Given the description of an element on the screen output the (x, y) to click on. 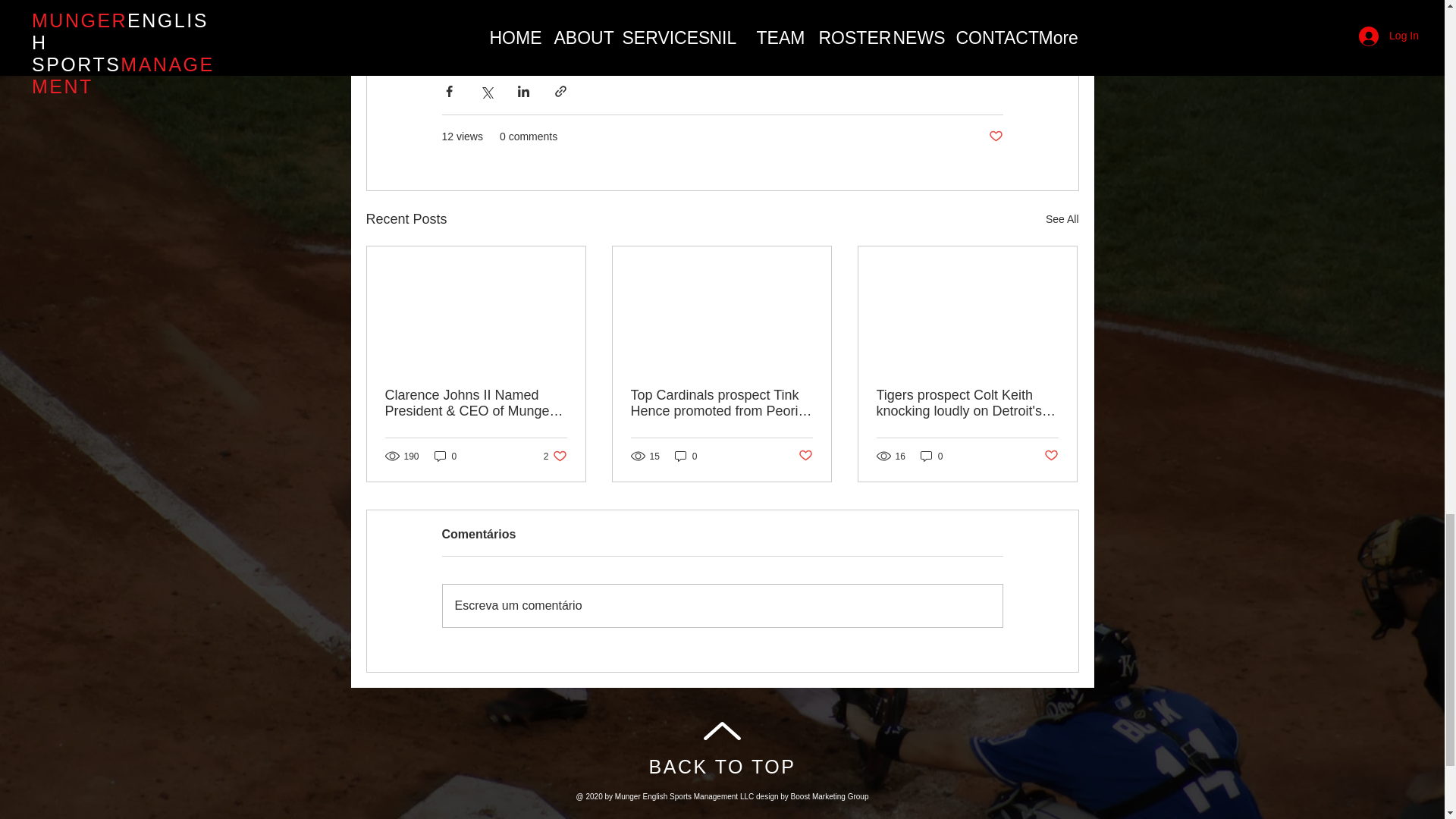
Tigers prospect Colt Keith knocking loudly on Detroit's door (967, 403)
Post not marked as liked (804, 455)
Post not marked as liked (995, 136)
0 (685, 455)
BACK TO TOP (555, 455)
See All (722, 766)
Post not marked as liked (1061, 219)
0 (1050, 455)
0 (445, 455)
